Given the description of an element on the screen output the (x, y) to click on. 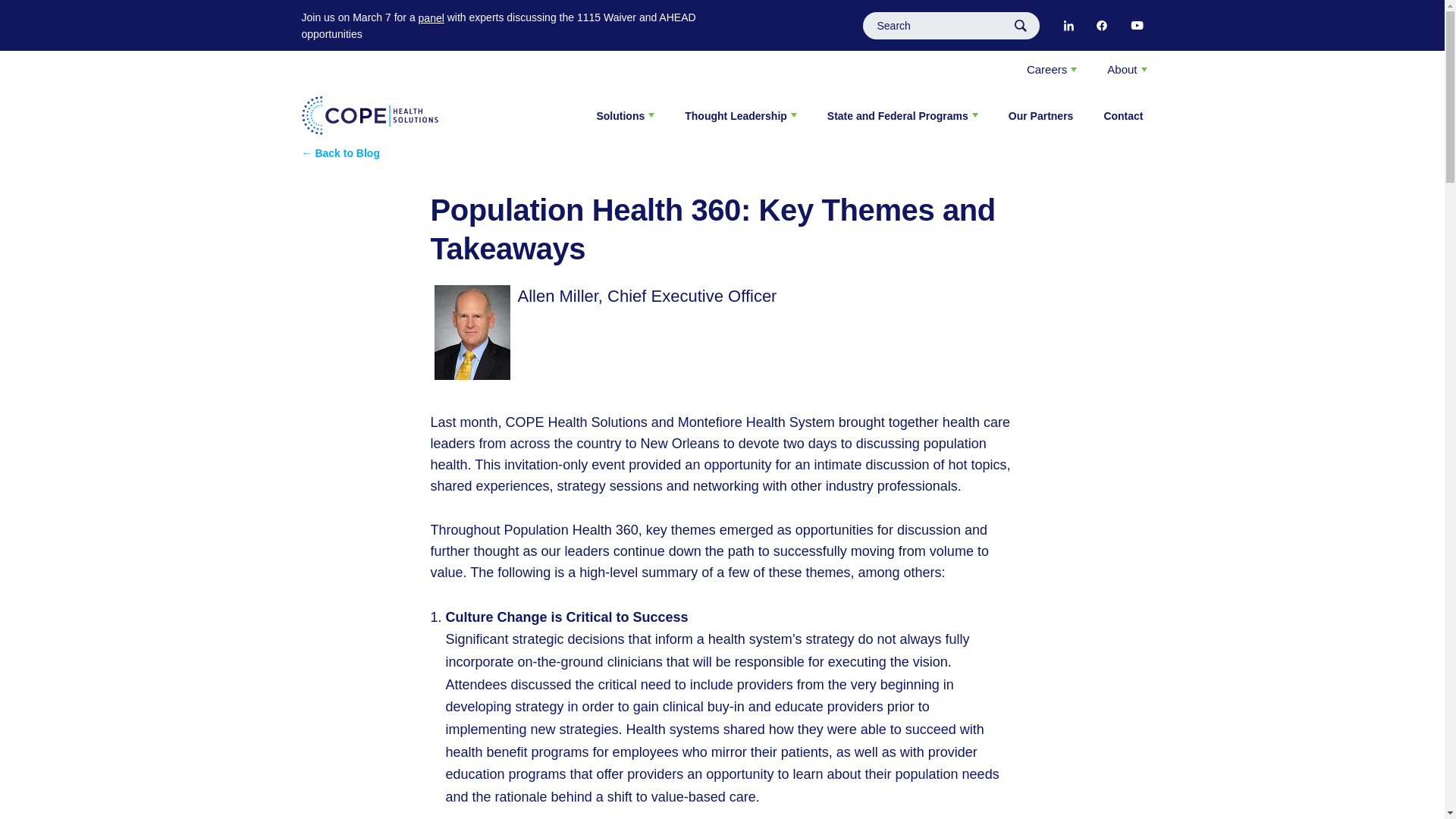
A6F70425-697A-4E27-B78C-9C693235582D (1101, 25)
26C87EFB-3DB7-48F5-87D1-143569C272E7 (1067, 25)
F7D84911-CC95-4A61-98F0-5D0E362F79BE (1135, 25)
